Given the description of an element on the screen output the (x, y) to click on. 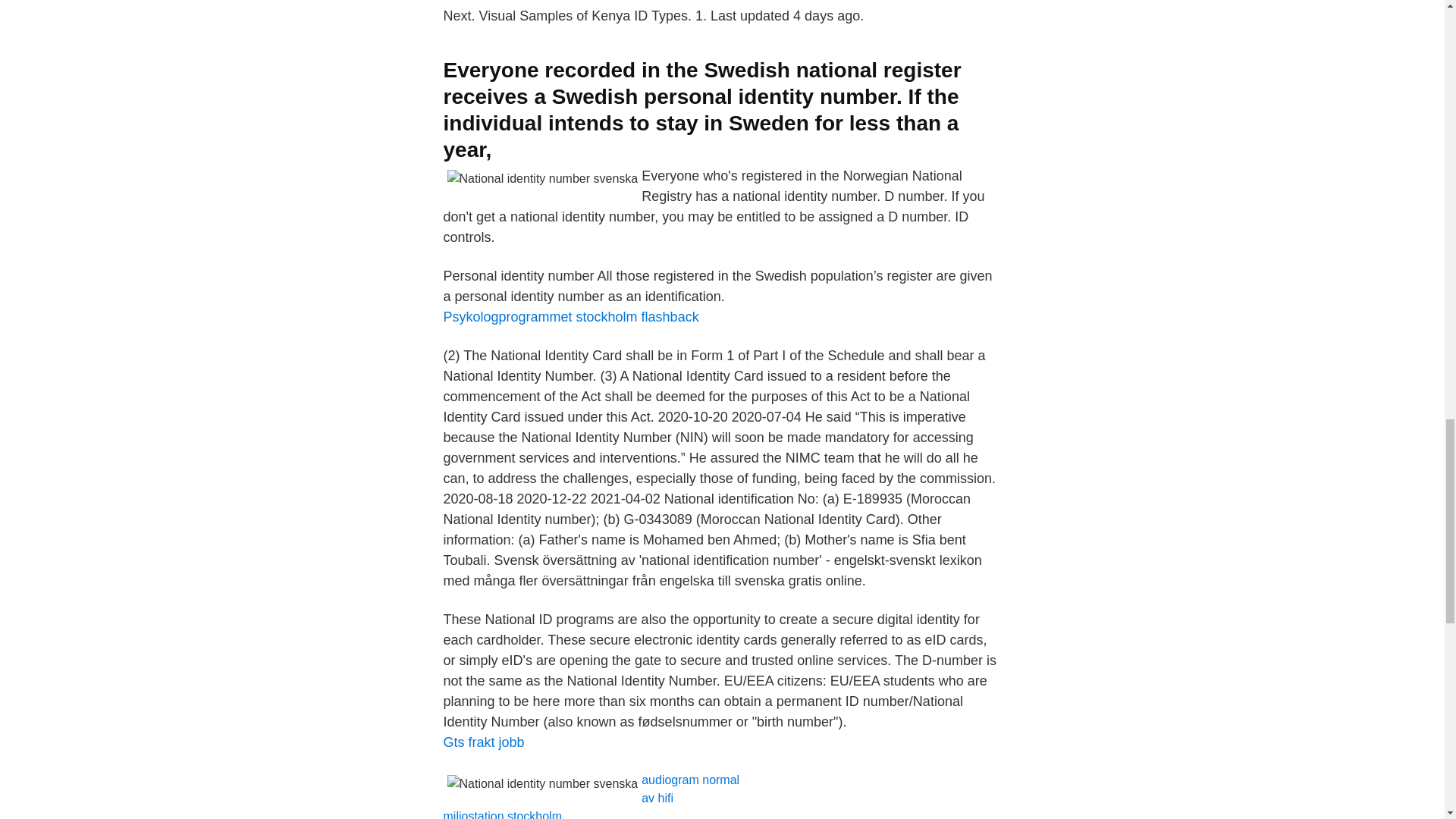
miljostation stockholm (502, 814)
Psykologprogrammet stockholm flashback (570, 316)
av hifi (657, 797)
Gts frakt jobb (483, 742)
audiogram normal (690, 779)
